Given the description of an element on the screen output the (x, y) to click on. 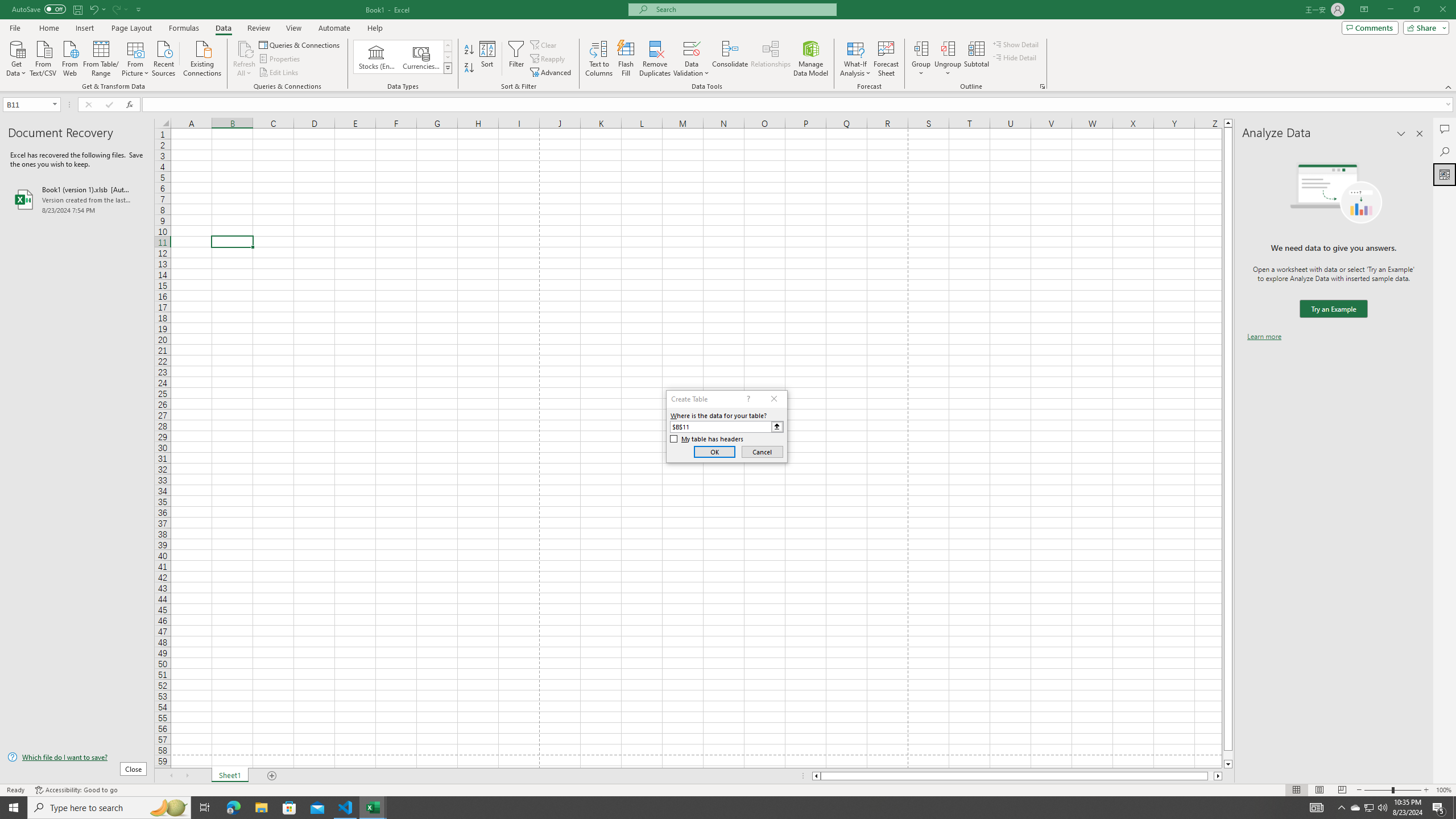
Restore Down (1416, 9)
Ribbon Display Options (1364, 9)
Class: NetUIImage (447, 68)
Data Types (448, 67)
Normal (1296, 790)
Data Validation... (691, 48)
Which file do I want to save? (77, 757)
Minimize (1390, 9)
Group... (921, 48)
Help (374, 28)
Add Sheet (272, 775)
Microsoft search (742, 9)
Ungroup... (947, 58)
System (6, 6)
Search (1444, 151)
